Given the description of an element on the screen output the (x, y) to click on. 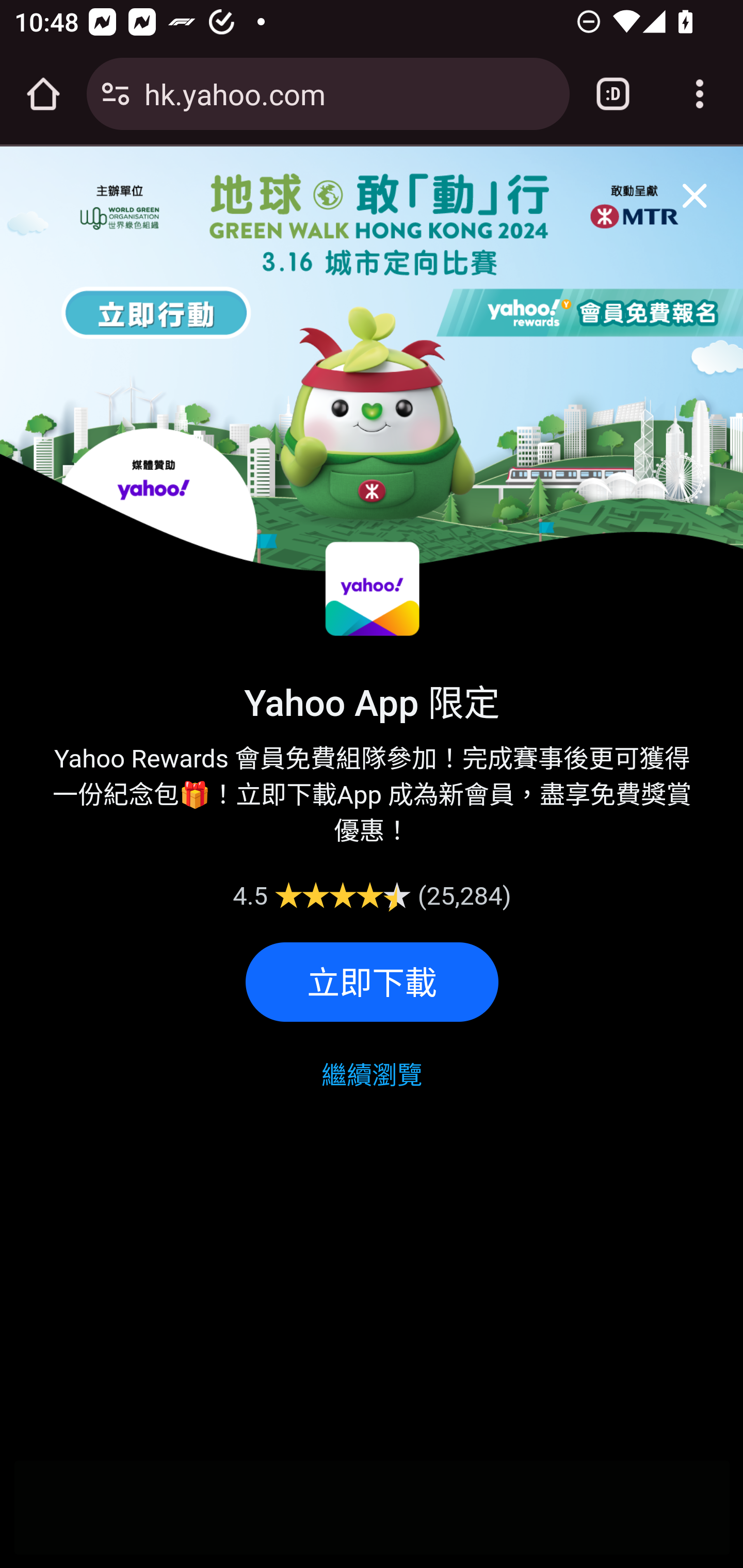
Open the home page (43, 93)
Connection is secure (115, 93)
Switch or close tabs (612, 93)
Customize and control Google Chrome (699, 93)
hk.yahoo.com (349, 92)
member (686, 191)
